Given the description of an element on the screen output the (x, y) to click on. 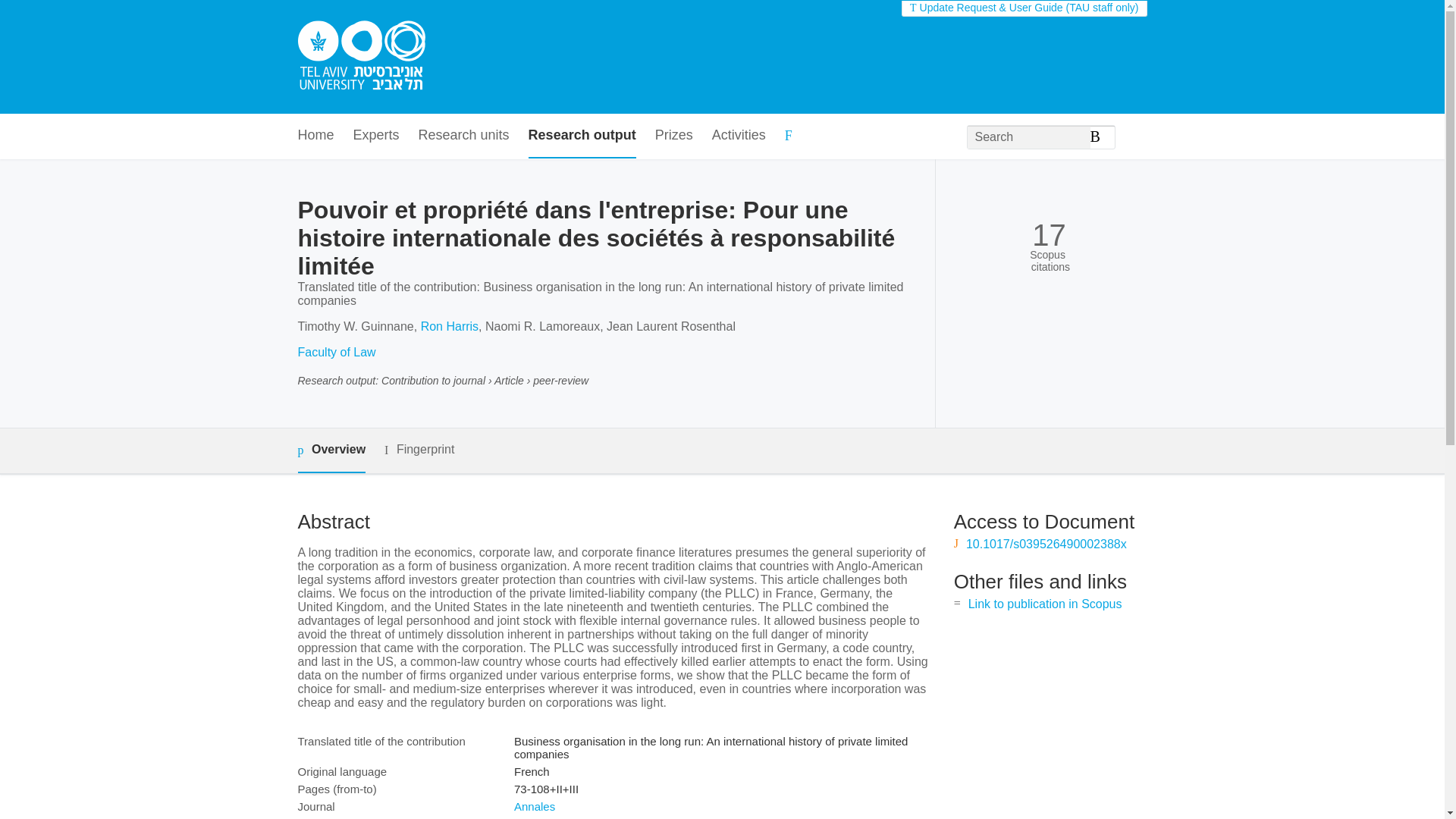
Link to publication in Scopus (1045, 603)
Ron Harris (449, 326)
Experts (375, 135)
Overview (331, 450)
Research units (464, 135)
Annales (533, 806)
Tel Aviv University Home (361, 56)
Activities (738, 135)
Fingerprint (419, 449)
